Given the description of an element on the screen output the (x, y) to click on. 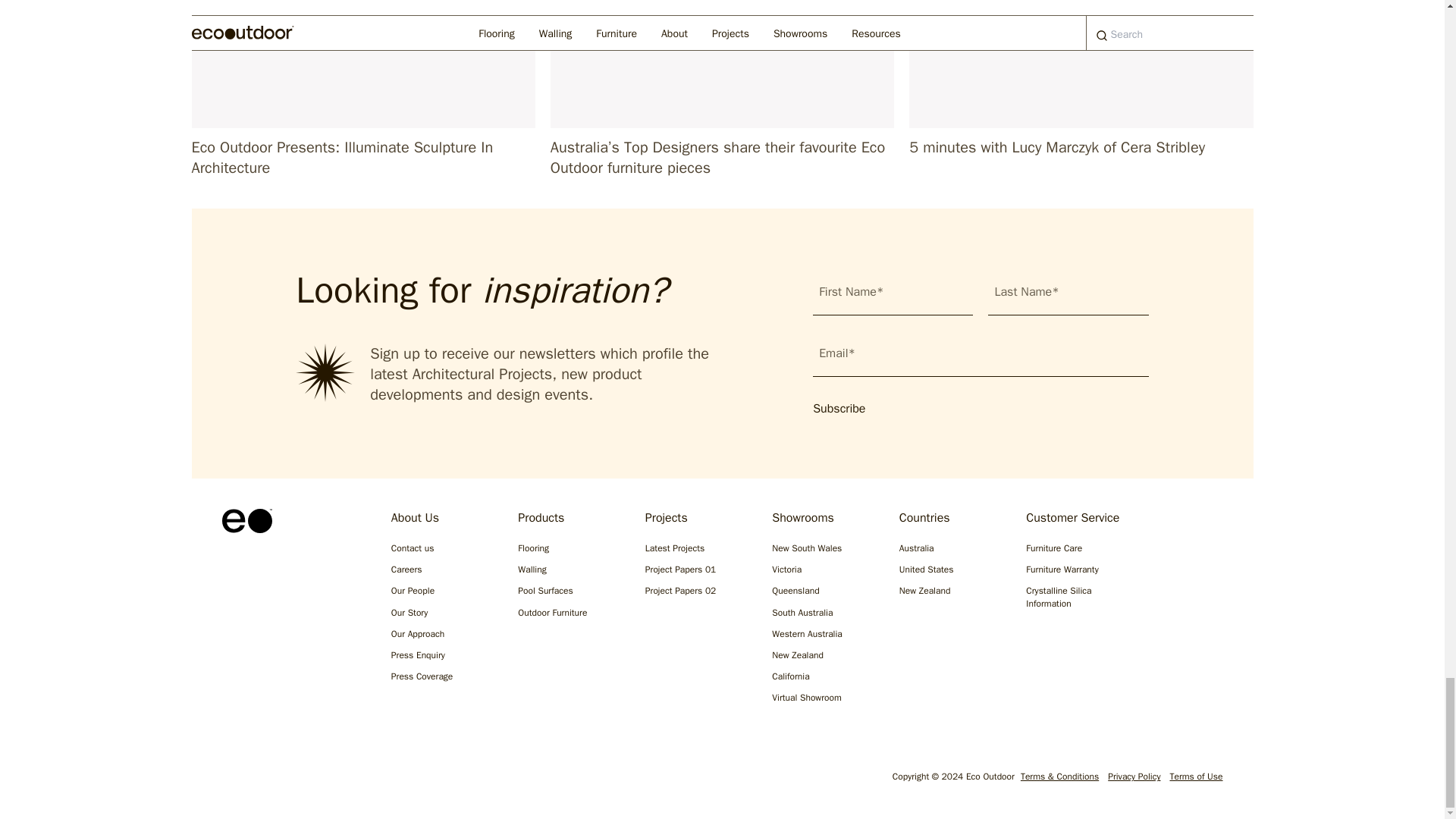
Facebook (278, 779)
MiniLogo.svg (245, 520)
Csa Lucy 01 (1080, 63)
Instagram (230, 779)
221107 ECO OUTDOOR DAY2 452 (362, 63)
LinkedIn (327, 779)
YouTube (375, 779)
Designers Outdoor Furniture E1573084658970 (721, 63)
